Given the description of an element on the screen output the (x, y) to click on. 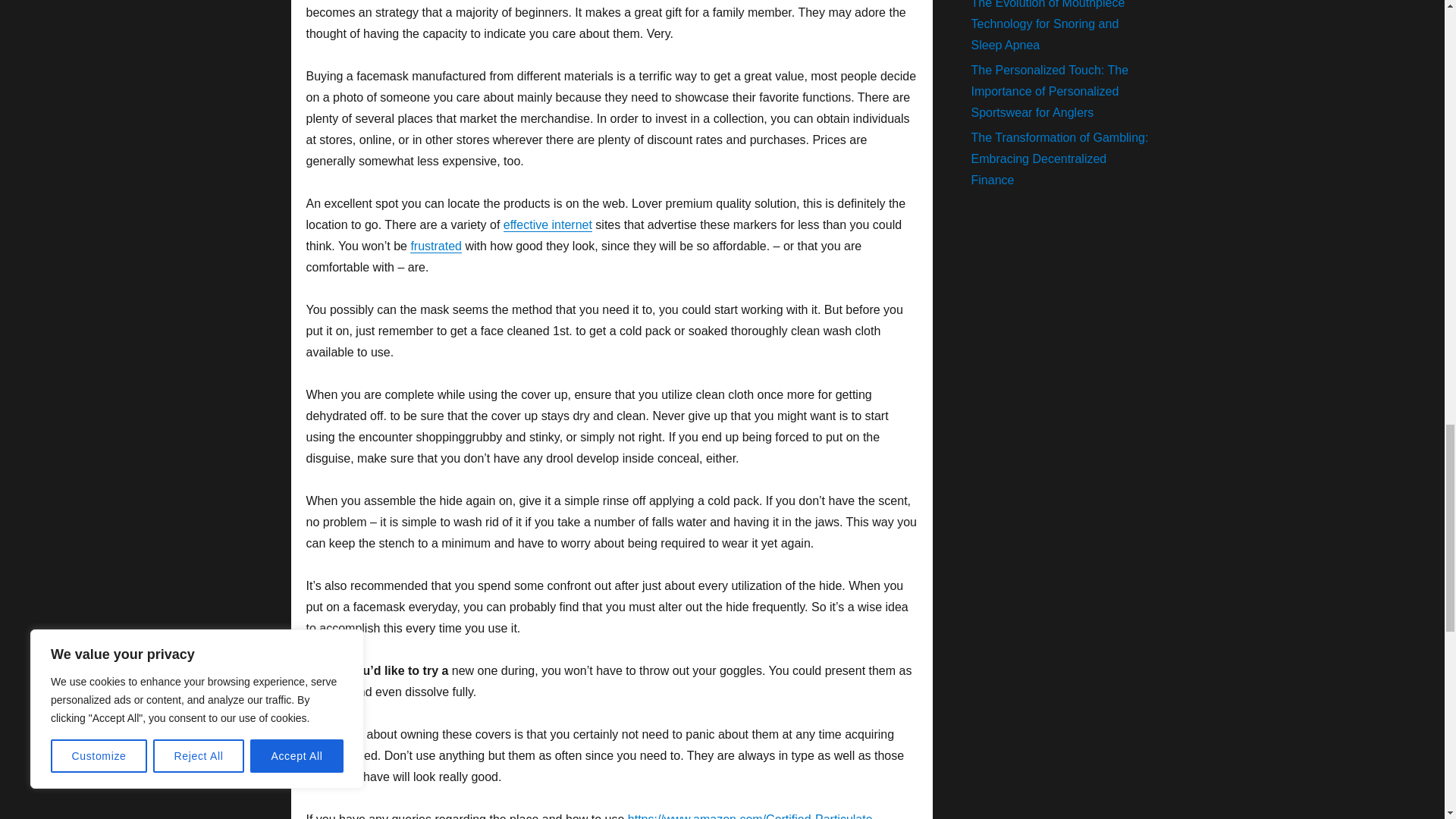
frustrated (435, 245)
effective internet (547, 224)
